Given the description of an element on the screen output the (x, y) to click on. 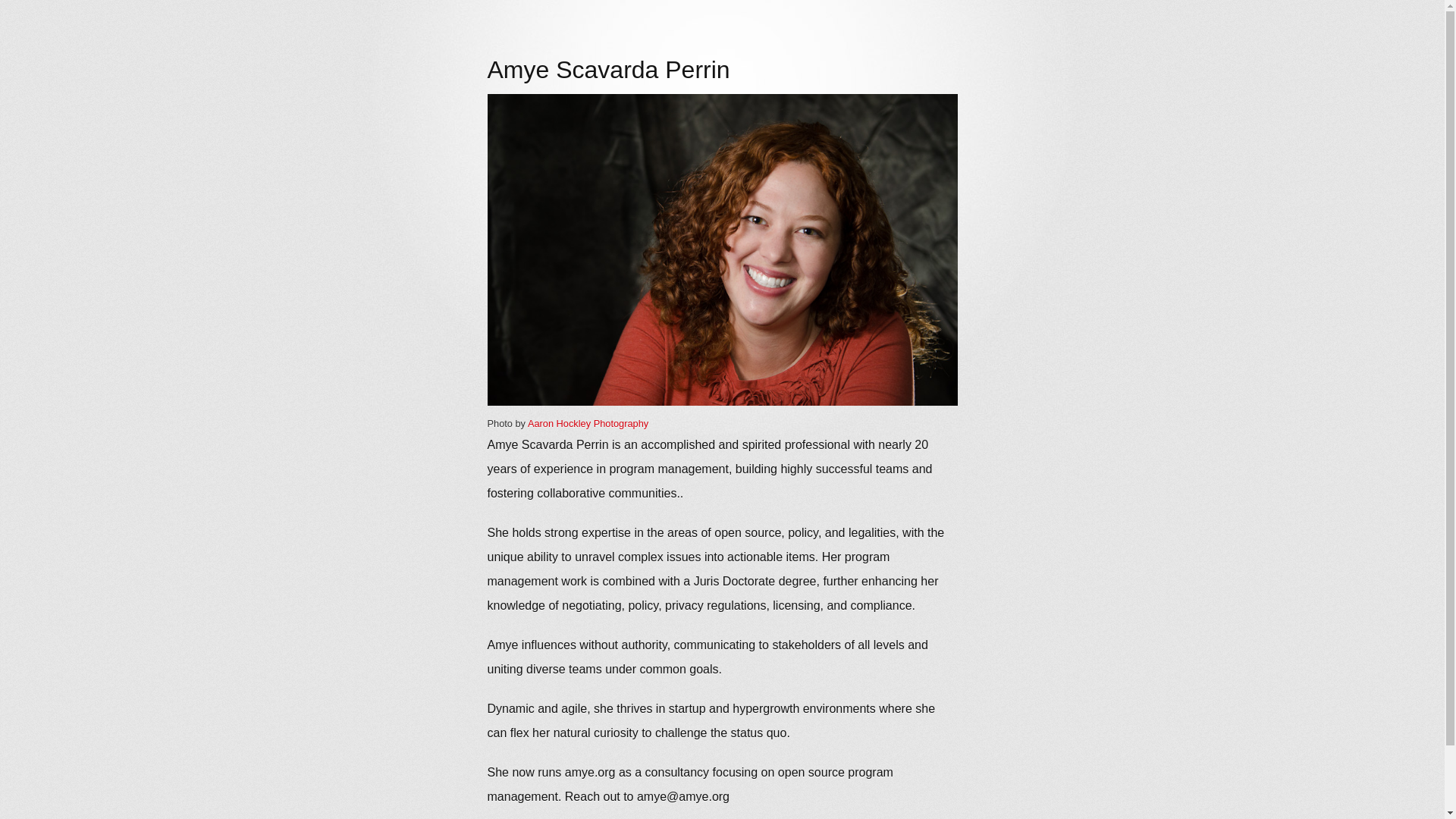
Aaron Hockley Photography (587, 423)
